Given the description of an element on the screen output the (x, y) to click on. 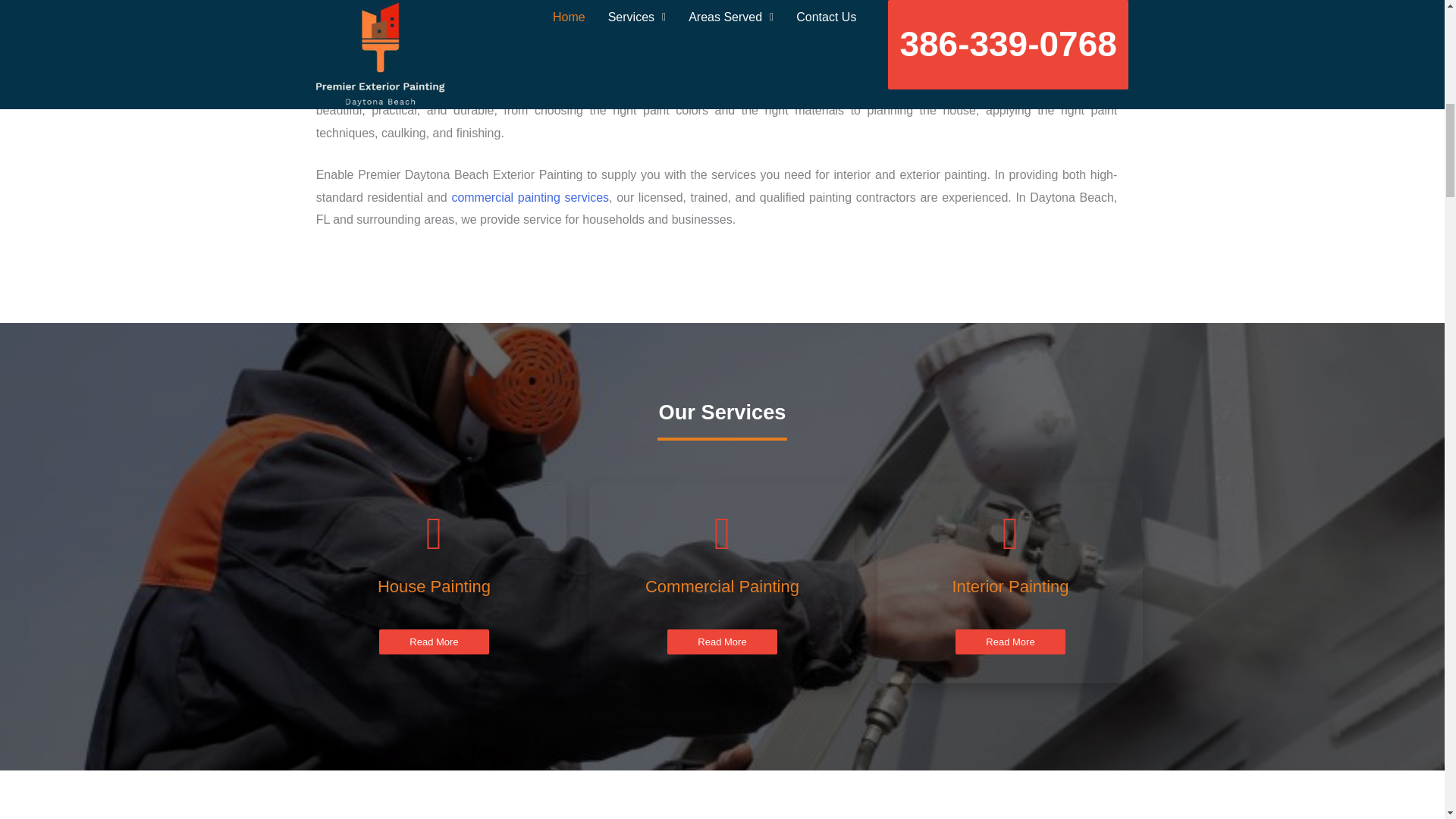
Read More (432, 641)
Commercial Painting (722, 586)
Read More (721, 641)
House Painting (433, 586)
commercial painting services (529, 196)
interior painting (894, 22)
Interior Painting (1010, 586)
Read More (1009, 641)
industrial painting (776, 22)
house painting (682, 22)
